Given the description of an element on the screen output the (x, y) to click on. 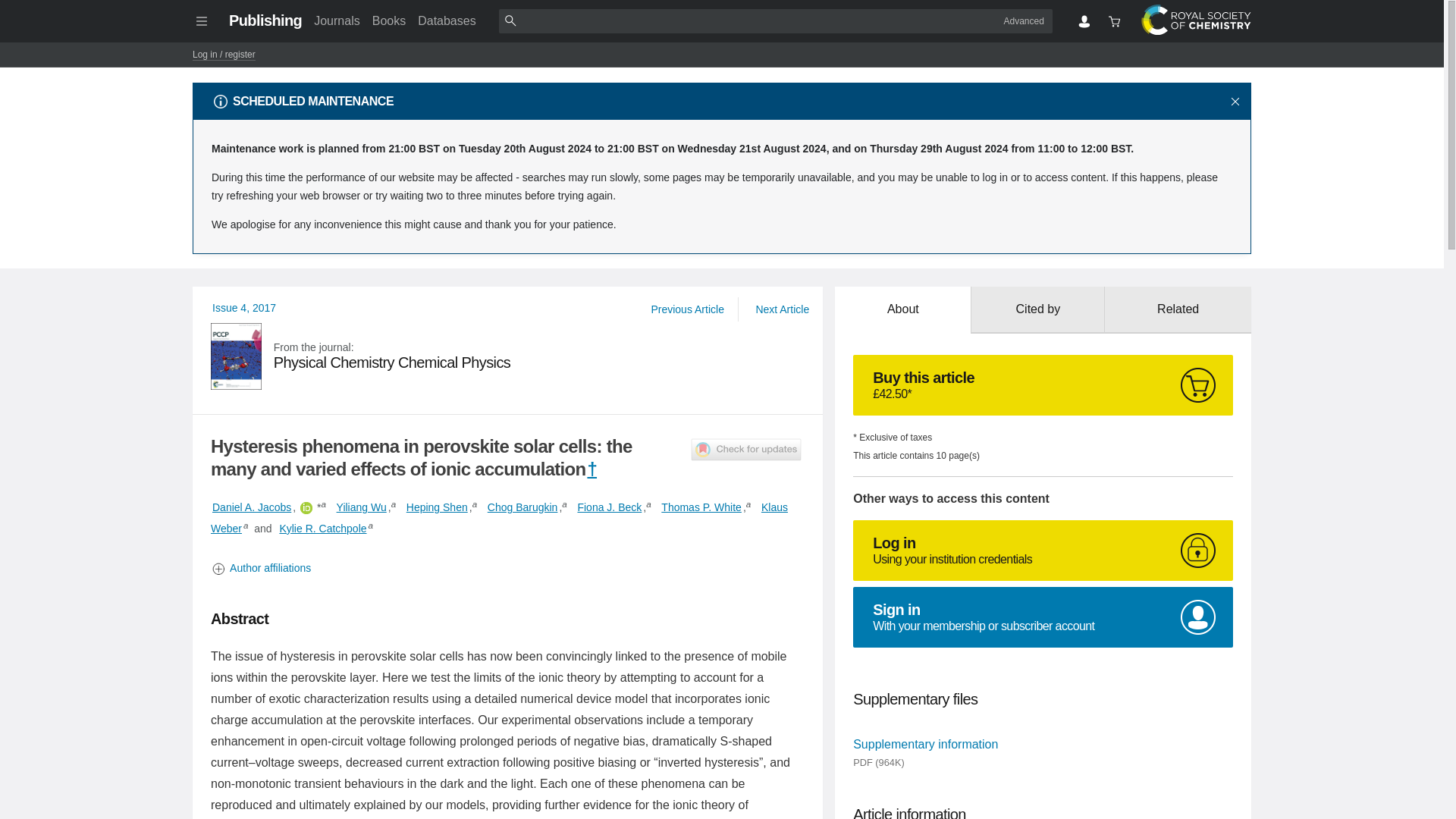
Publishing home page (264, 20)
Chog Barugkin (522, 507)
Yiliang Wu (361, 507)
Thomas P. White (700, 507)
Issue 4, 2017 (244, 307)
Books (389, 20)
Daniel A. Jacobs (251, 507)
Advanced (1023, 20)
Heping Shen (436, 507)
Kylie R. Catchpole (323, 528)
